Given the description of an element on the screen output the (x, y) to click on. 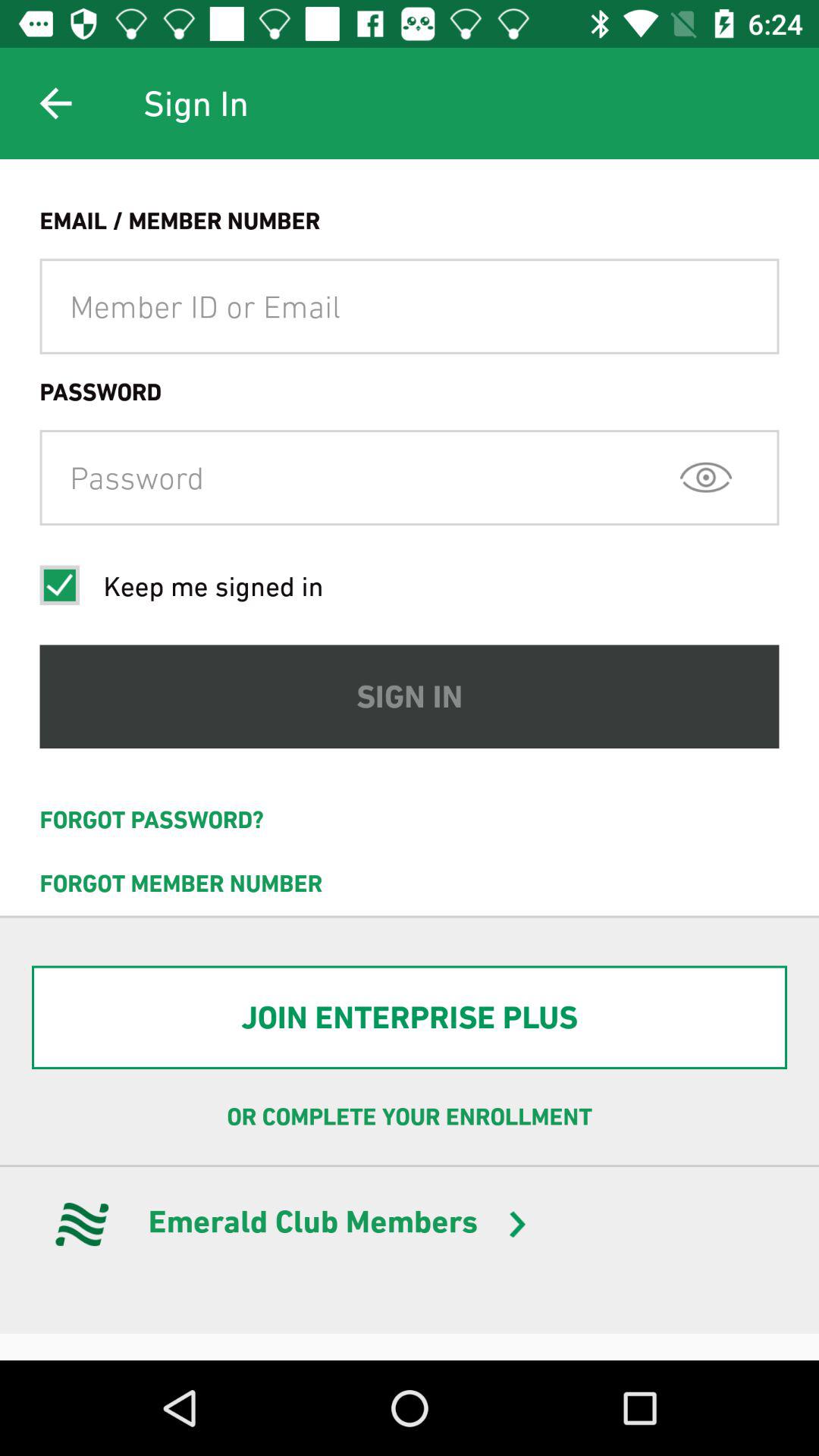
email or member number (409, 306)
